Given the description of an element on the screen output the (x, y) to click on. 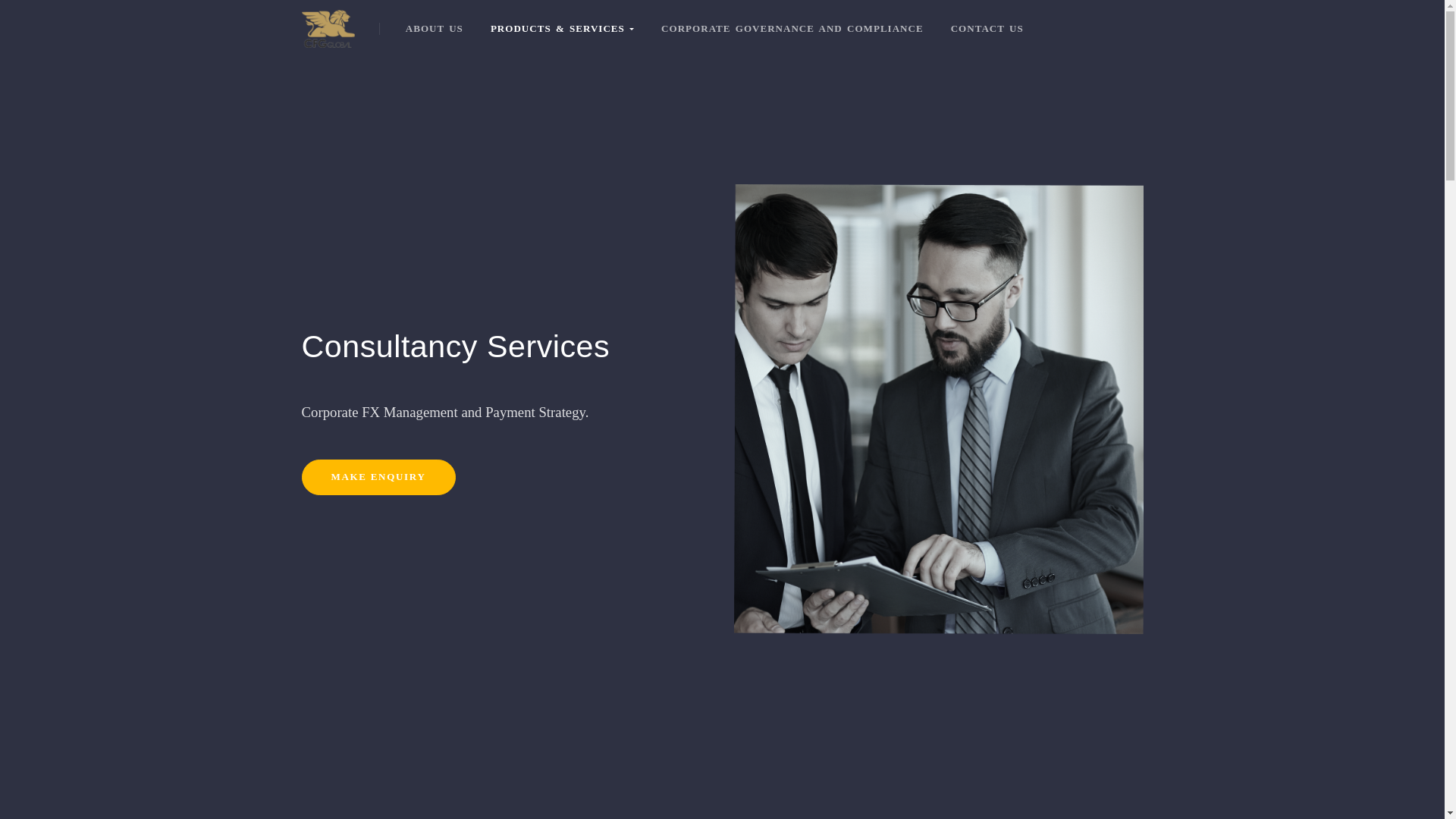
ABOUT US (434, 28)
CORPORATE GOVERNANCE AND COMPLIANCE (792, 28)
MAKE ENQUIRY (378, 477)
CONTACT US (986, 28)
